Given the description of an element on the screen output the (x, y) to click on. 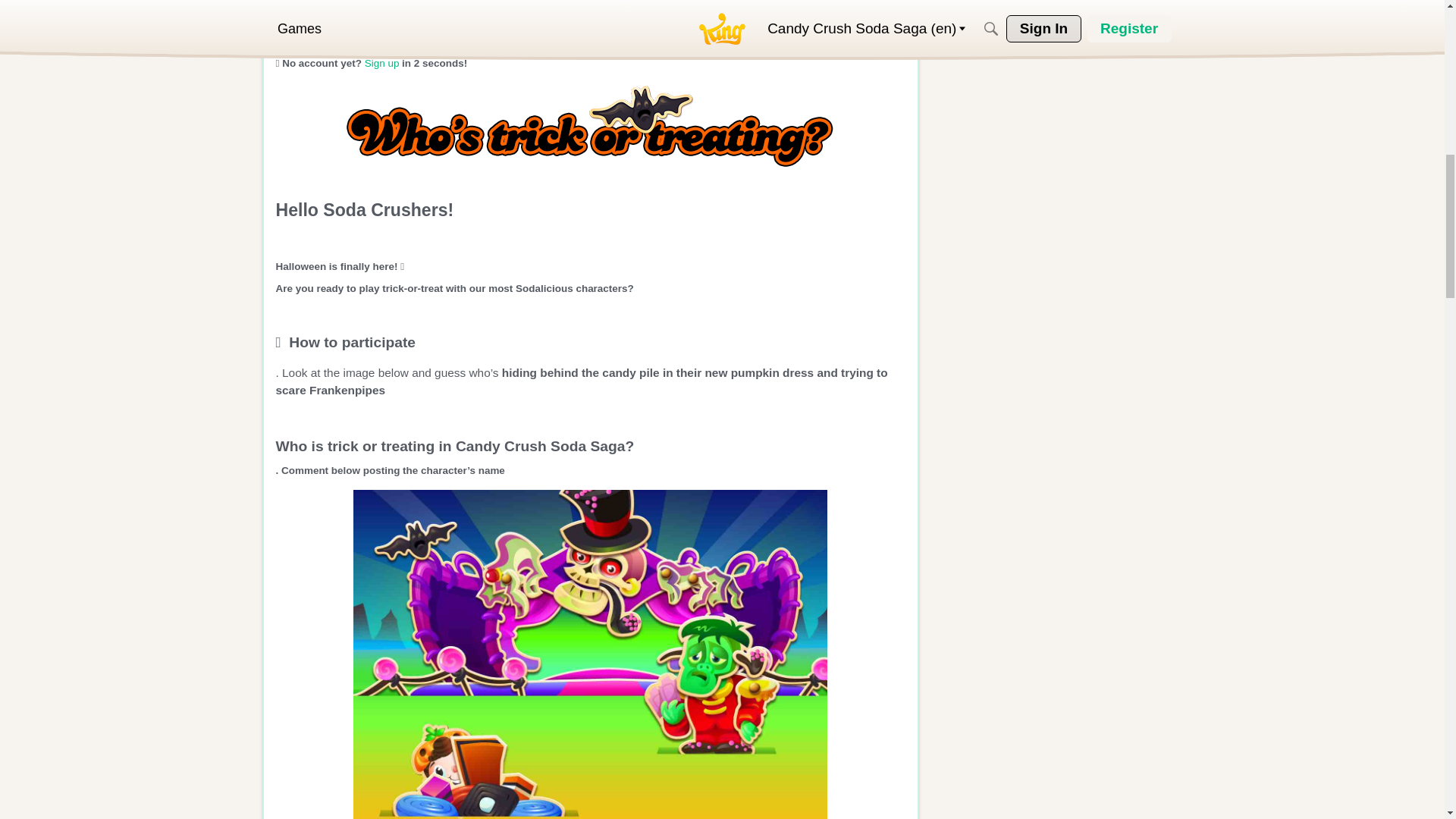
October 2020 (363, 29)
LadyRaffie (298, 15)
LadyRaffie (355, 9)
Sign up (381, 62)
October 19, 2020 10:49AM (363, 29)
Administrator (536, 9)
